Given the description of an element on the screen output the (x, y) to click on. 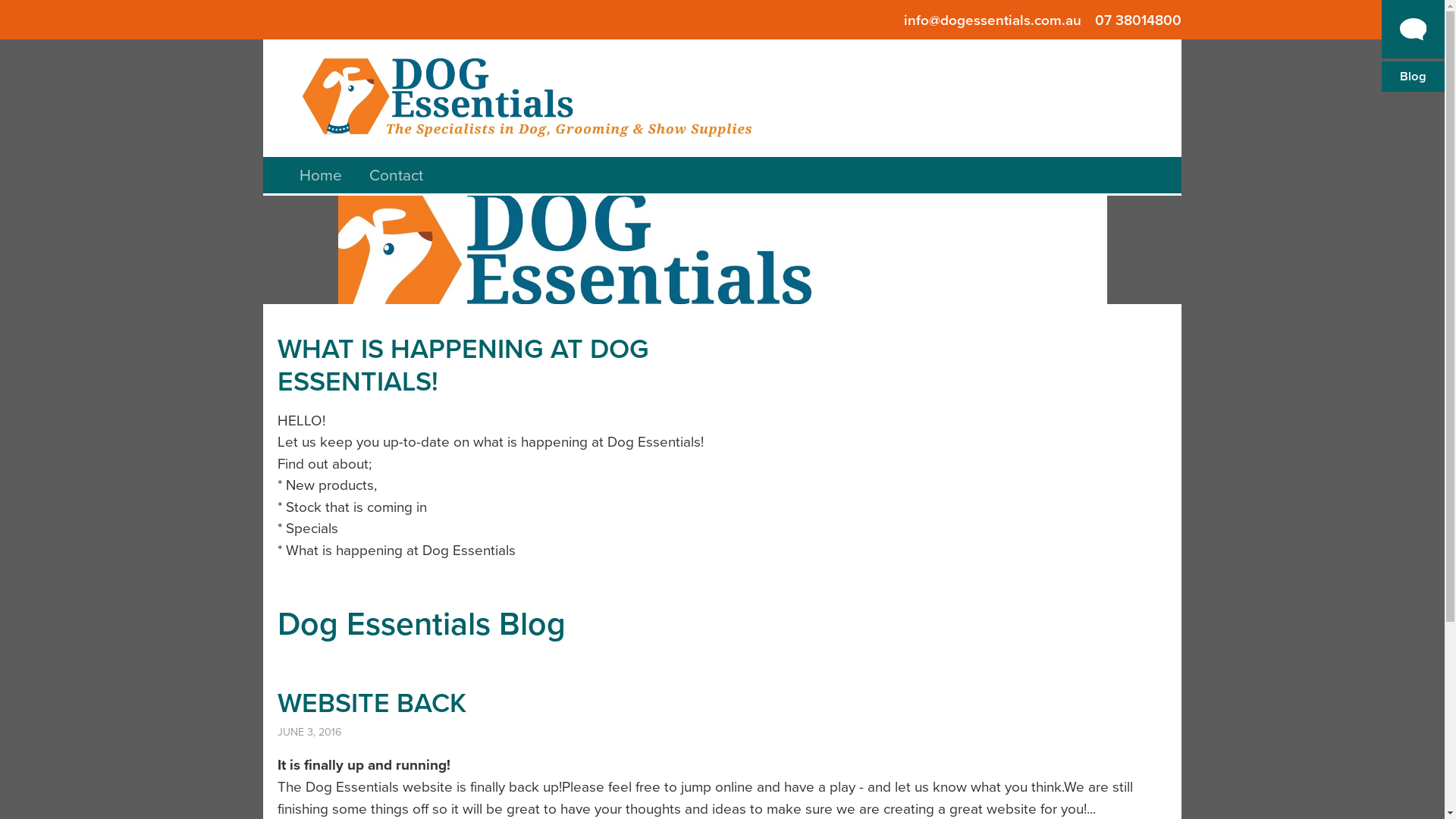
Blog Element type: text (1412, 76)
WEBSITE BACK Element type: text (371, 702)
info@dogessentials.com.au Element type: text (992, 20)
Home Element type: text (320, 174)
Contact Element type: text (396, 174)
